Given the description of an element on the screen output the (x, y) to click on. 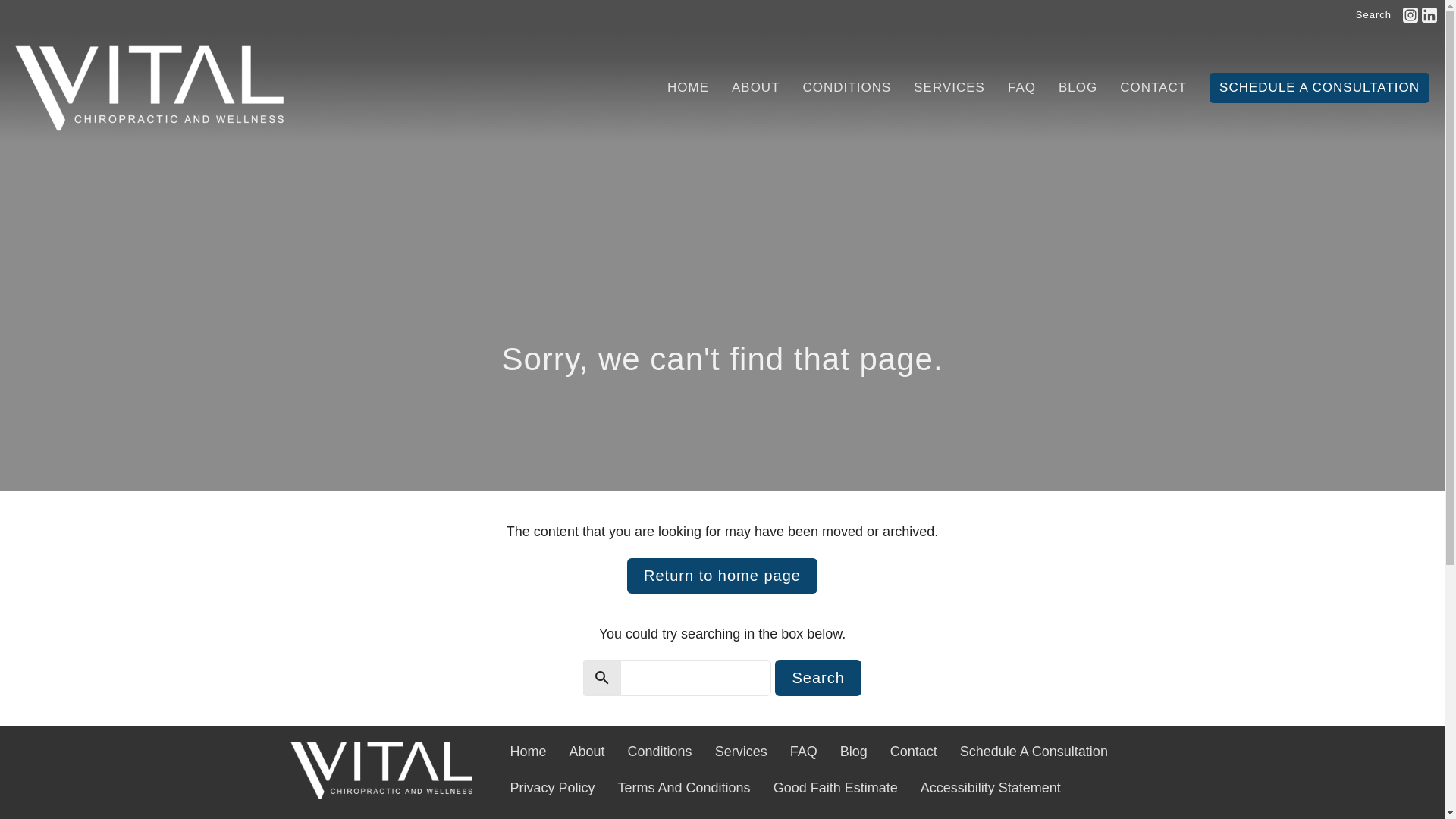
Search (817, 678)
ABOUT (756, 87)
BLOG (1077, 87)
Return to home page (721, 575)
Good Faith Estimate (835, 788)
HOME (687, 87)
Conditions (660, 752)
Blog (853, 752)
SERVICES (949, 87)
CONDITIONS (847, 87)
